Given the description of an element on the screen output the (x, y) to click on. 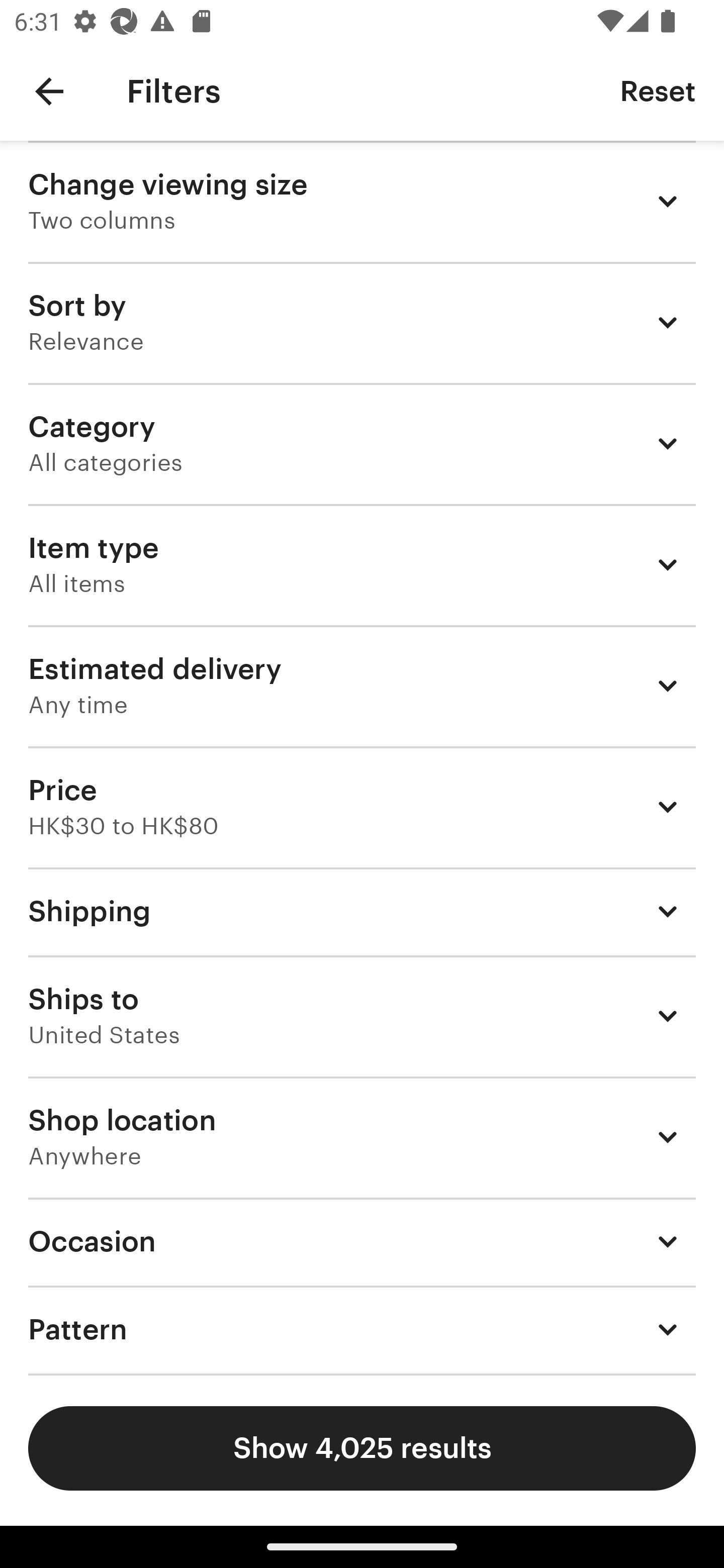
Navigate up (49, 91)
Reset (657, 90)
Change viewing size Two columns (362, 201)
Sort by Relevance (362, 321)
Category All categories (362, 442)
Item type All items (362, 564)
Estimated delivery Any time (362, 685)
Price HK$30 to HK$80 (362, 806)
Shipping (362, 910)
Ships to United States (362, 1015)
Shop location Anywhere (362, 1137)
Occasion (362, 1241)
Pattern (362, 1329)
Show 4,025 results Show results (361, 1448)
